Given the description of an element on the screen output the (x, y) to click on. 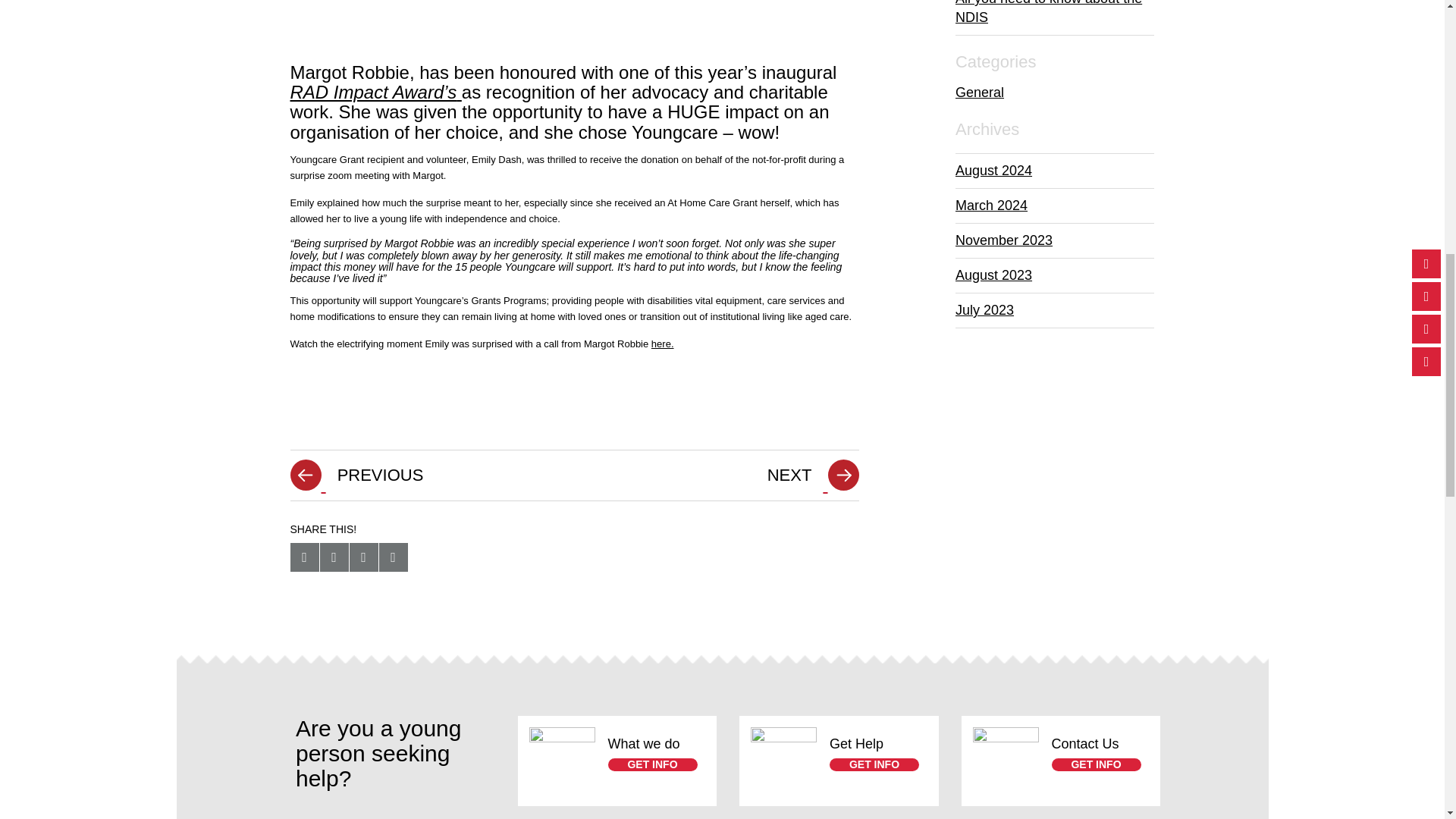
General (979, 92)
Email to (392, 556)
Share on Linkedin (363, 556)
Share on Facebook (303, 556)
Share on Twitter (334, 556)
